Given the description of an element on the screen output the (x, y) to click on. 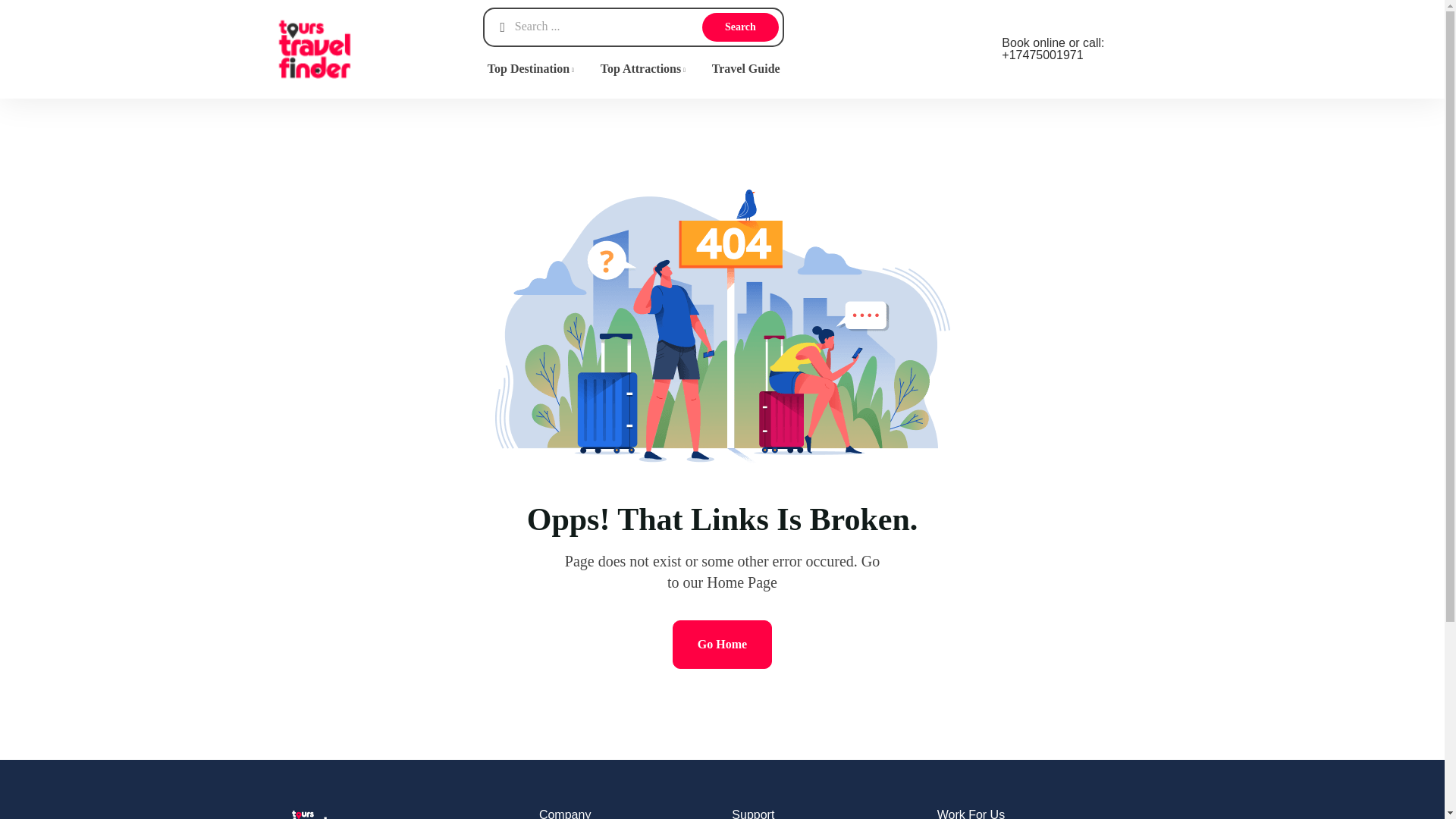
Top Destination (532, 68)
Search (739, 27)
Top Attractions (644, 68)
Top Destination (532, 68)
Top Attractions (644, 68)
Travel Guide (746, 68)
Go Home (721, 644)
